Given the description of an element on the screen output the (x, y) to click on. 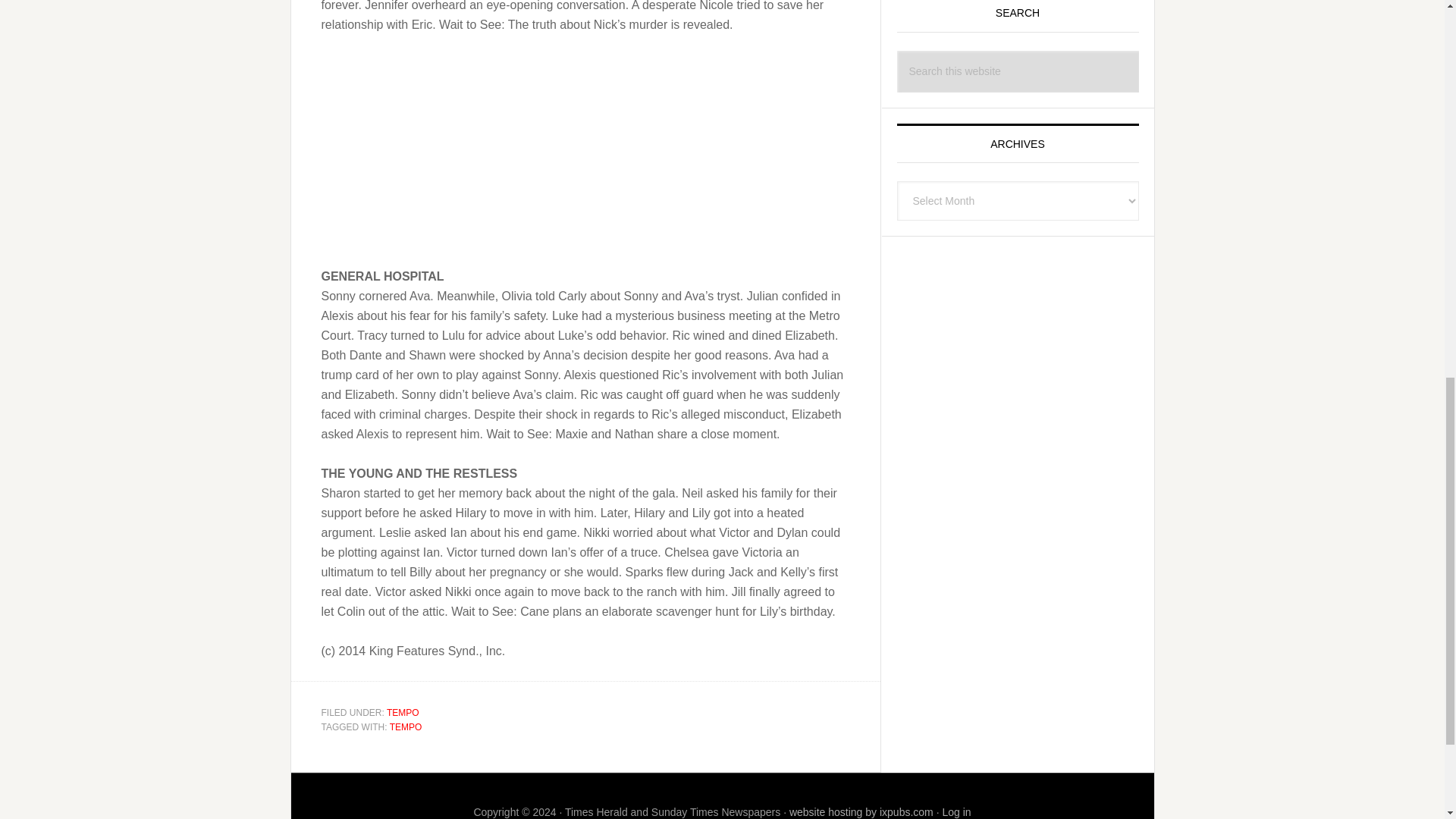
Advertisement (1016, 282)
Advertisement (585, 160)
